Given the description of an element on the screen output the (x, y) to click on. 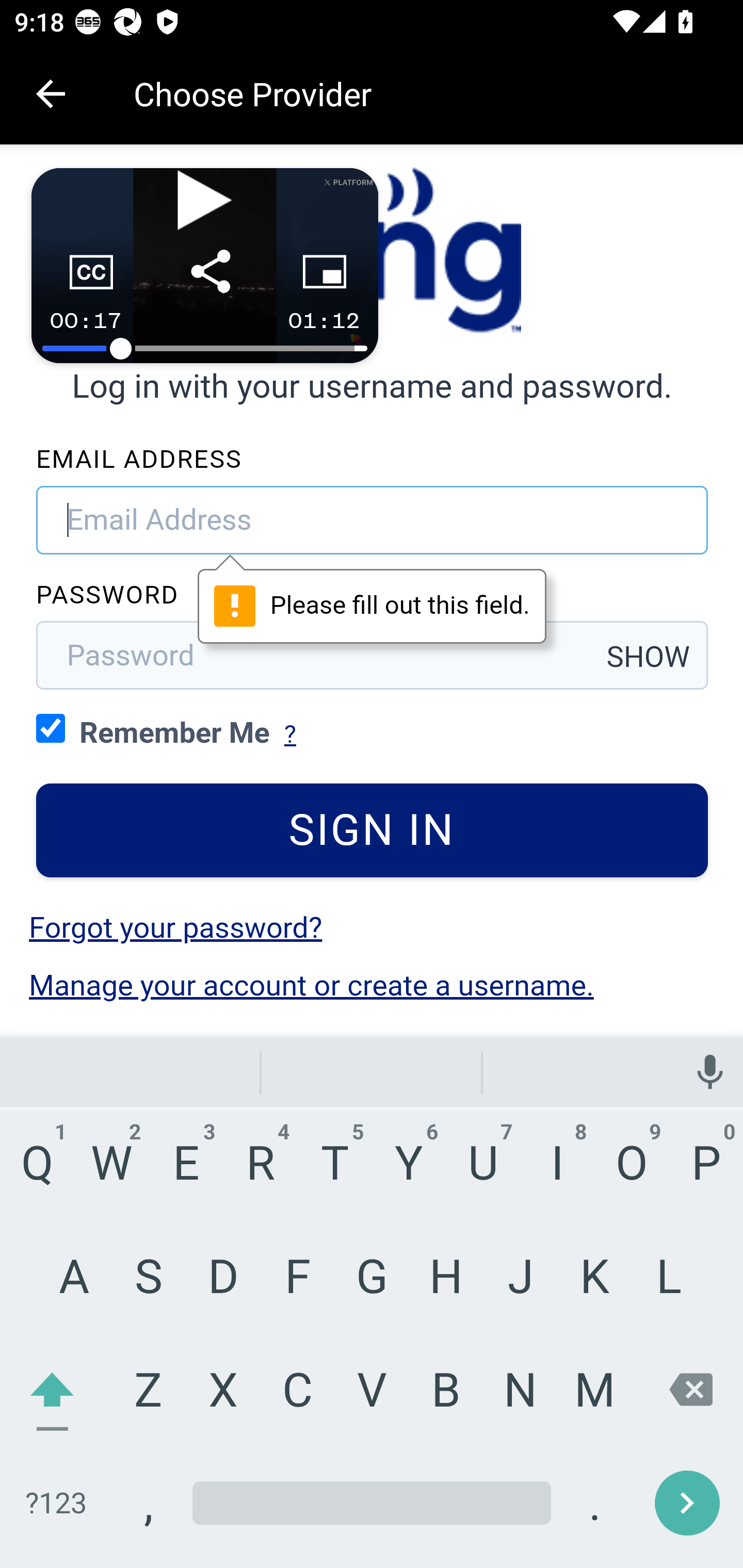
Navigate up (50, 93)
SHOW (647, 656)
Remember Me (50, 728)
? (289, 734)
SIGN IN (372, 831)
Forgot your password? (175, 927)
Manage your account or create a username. (310, 985)
